Given the description of an element on the screen output the (x, y) to click on. 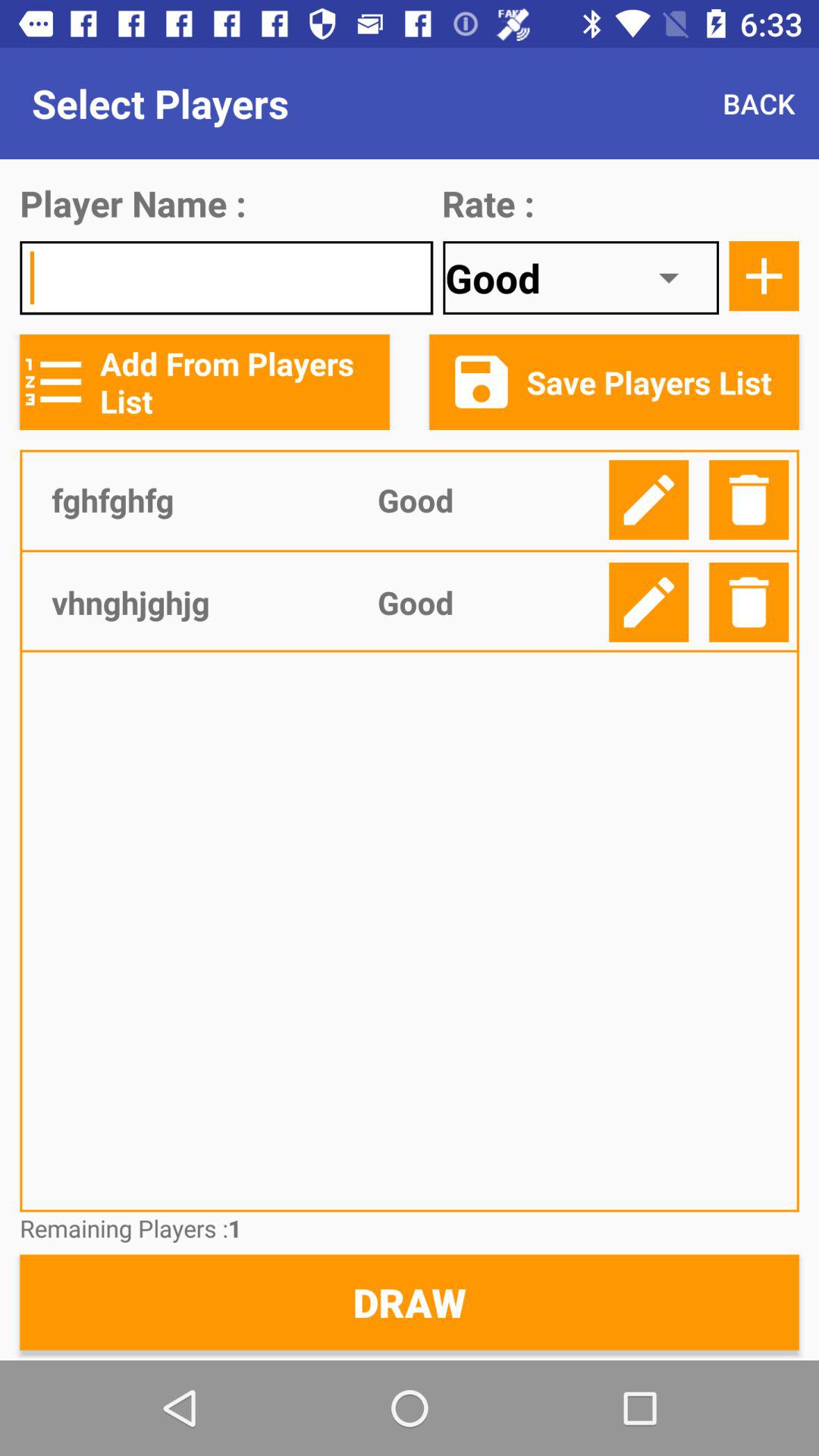
delete the name (748, 602)
